Given the description of an element on the screen output the (x, y) to click on. 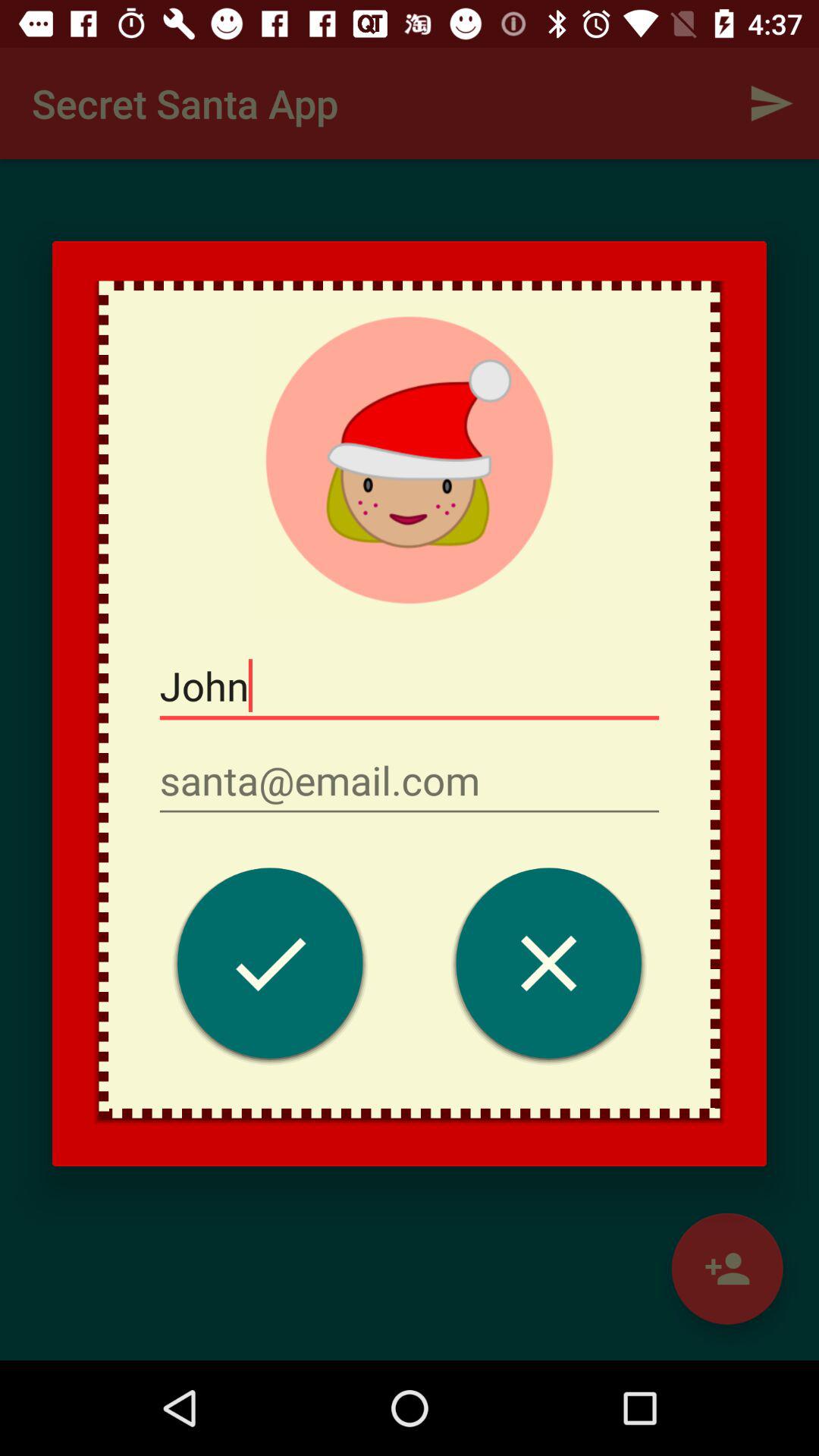
to cancel (548, 966)
